Given the description of an element on the screen output the (x, y) to click on. 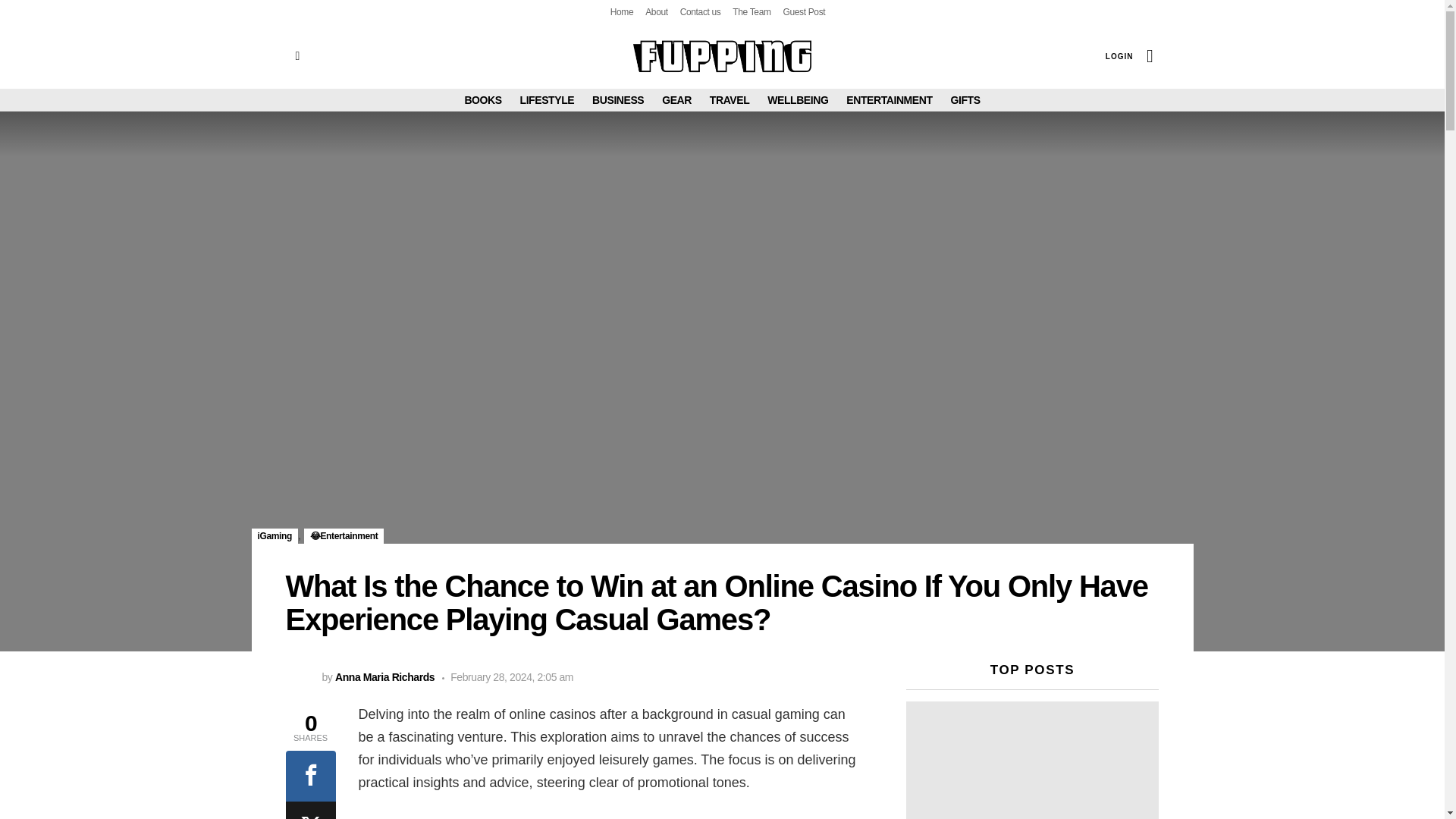
TRAVEL (729, 99)
Home (621, 12)
Menu (296, 55)
The Team (751, 12)
LIFESTYLE (547, 99)
Posts by Anna Maria Richards (383, 676)
iGaming (274, 535)
GIFTS (964, 99)
BOOKS (482, 99)
WELLBEING (797, 99)
BUSINESS (617, 99)
Contact us (699, 12)
Guest Post (804, 12)
ENTERTAINMENT (888, 99)
LOGIN (1119, 56)
